Given the description of an element on the screen output the (x, y) to click on. 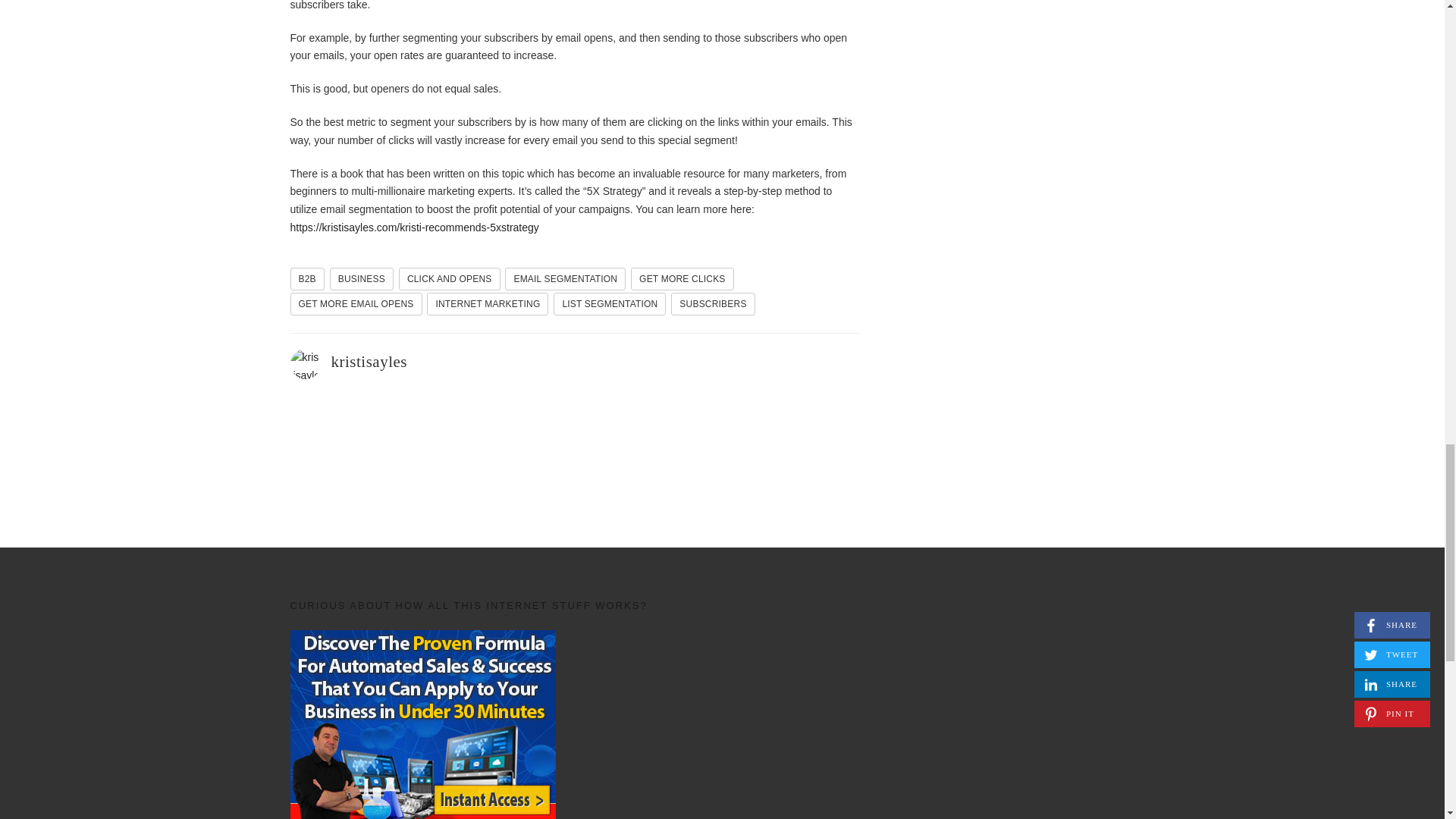
EMAIL SEGMENTATION (565, 278)
INTERNET MARKETING (487, 303)
BUSINESS (361, 278)
B2B (306, 278)
SUBSCRIBERS (712, 303)
GET MORE EMAIL OPENS (355, 303)
CLICK AND OPENS (449, 278)
GET MORE CLICKS (681, 278)
LIST SEGMENTATION (609, 303)
kristisayles (368, 361)
